Given the description of an element on the screen output the (x, y) to click on. 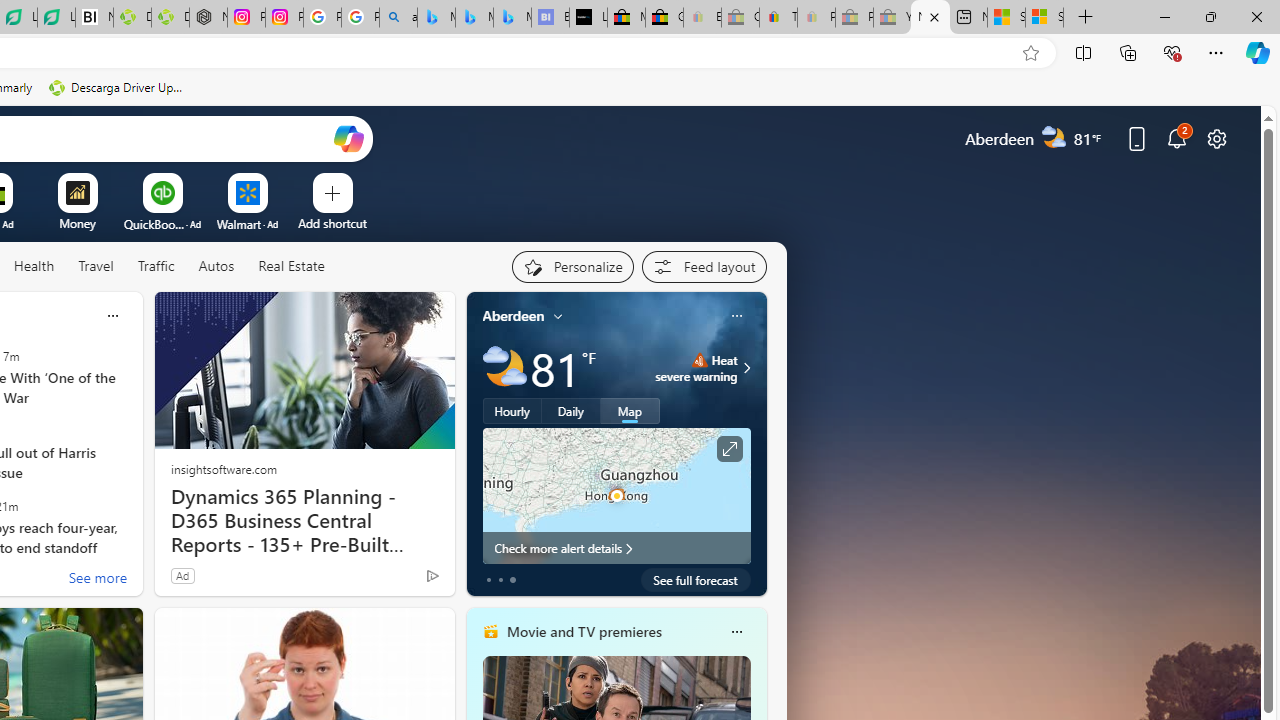
Heat - Severe Heat severe warning (696, 367)
Partly cloudy (504, 368)
Press Room - eBay Inc. - Sleeping (853, 17)
Aberdeen (513, 315)
Map (630, 411)
See full forecast (695, 579)
